Given the description of an element on the screen output the (x, y) to click on. 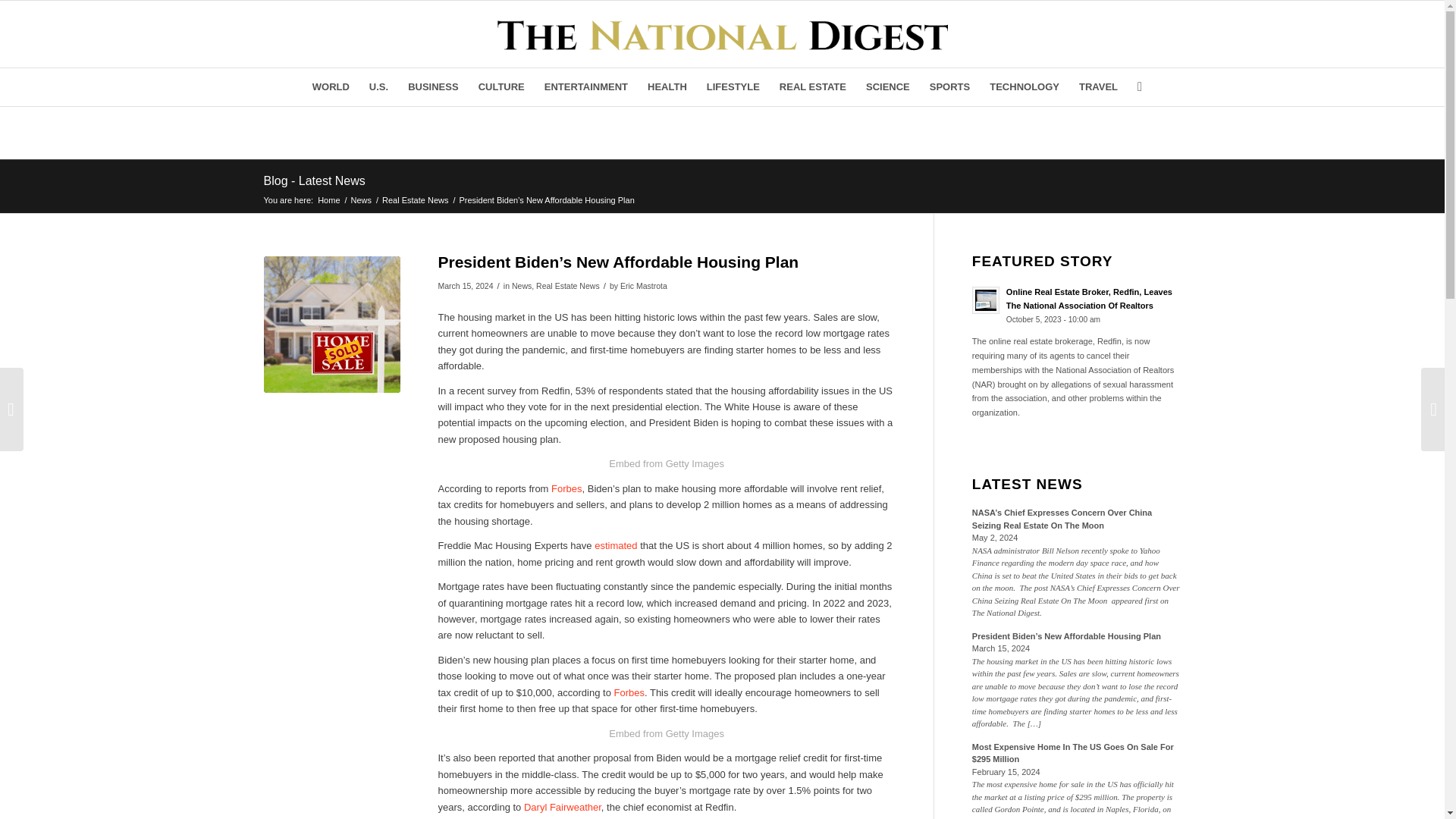
home (331, 324)
Blog - Latest News (314, 180)
SCIENCE (888, 86)
LIFESTYLE (733, 86)
Real Estate News (414, 199)
REAL ESTATE (813, 86)
WORLD (330, 86)
Forbes (565, 488)
estimated (615, 545)
HEALTH (667, 86)
TECHNOLOGY (1023, 86)
TRAVEL (1097, 86)
Embed from Getty Images (665, 463)
Eric Mastrota (643, 285)
U.S. (378, 86)
